Given the description of an element on the screen output the (x, y) to click on. 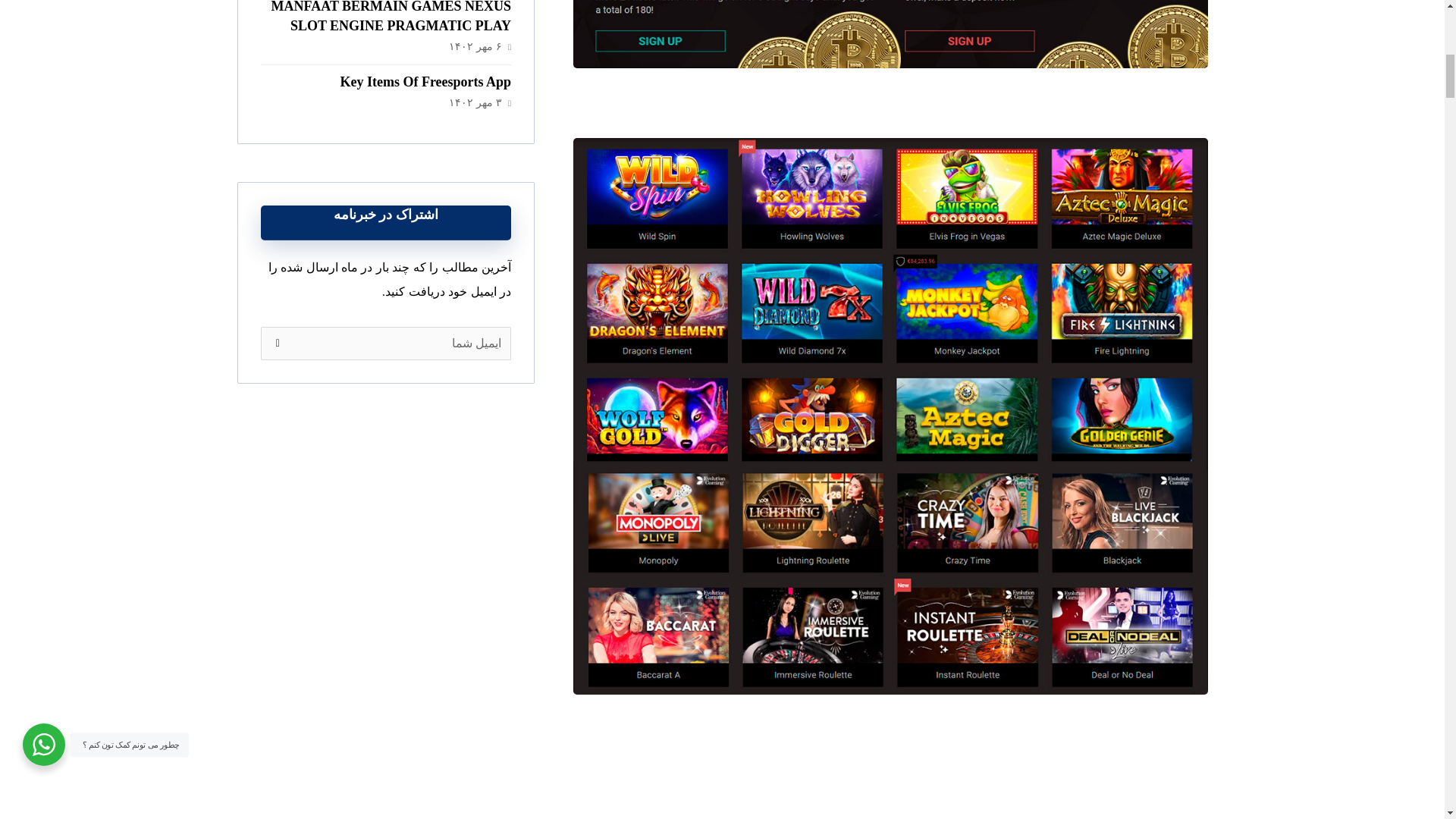
Key Items Of Freesports App (425, 81)
Casino jar games (890, 34)
